Given the description of an element on the screen output the (x, y) to click on. 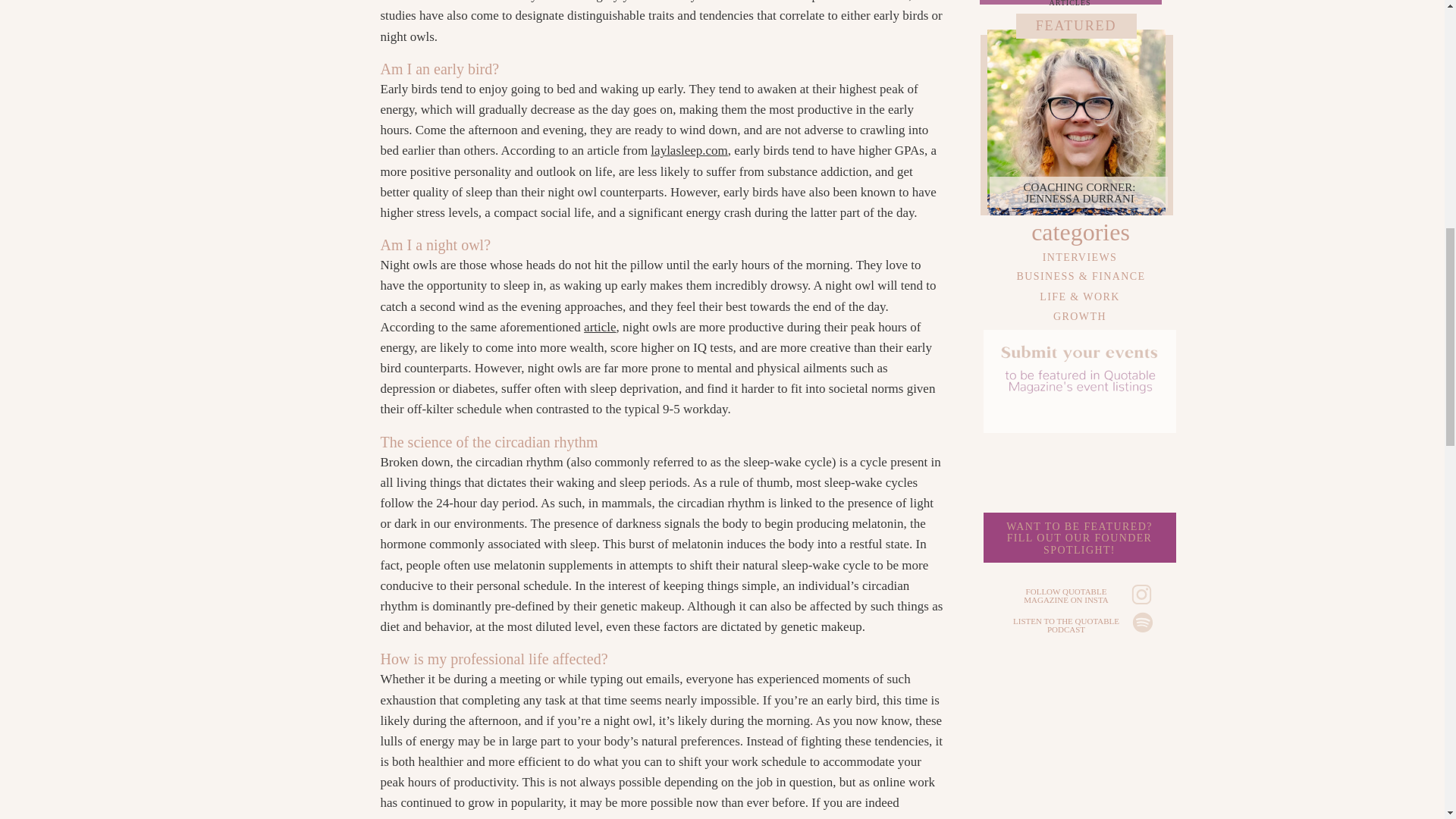
article (1079, 194)
GROWTH (599, 327)
laylasleep.com (1079, 314)
INTERVIEWS (689, 150)
